Given the description of an element on the screen output the (x, y) to click on. 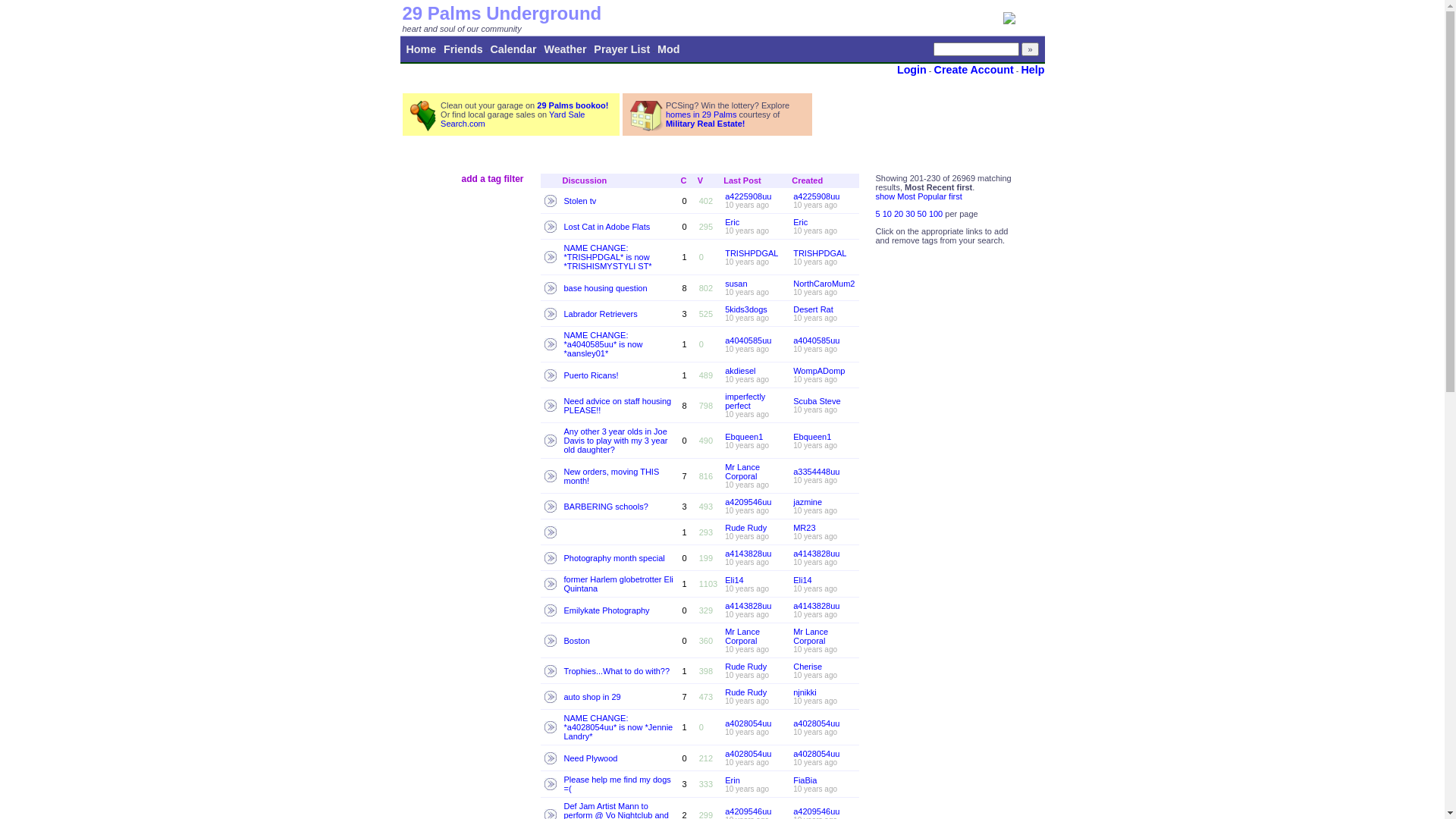
Stolen tv Element type: text (580, 199)
Prayer List Element type: text (621, 49)
Please help me find my dogs =( Element type: text (617, 784)
a4143828uu Element type: text (816, 553)
TRISHPDGAL Element type: text (819, 252)
100 Element type: text (936, 213)
jazmine Element type: text (807, 501)
a4028054uu Element type: text (747, 753)
Yard Sale Search.com Element type: text (512, 118)
TRISHPDGAL Element type: text (751, 252)
Puerto Ricans! Element type: text (591, 374)
Boston Element type: text (576, 639)
former Harlem globetrotter Eli Quintana Element type: text (618, 583)
a3354448uu Element type: text (816, 471)
5kids3dogs Element type: text (745, 308)
Ebqueen1 Element type: text (743, 436)
Mr Lance Corporal Element type: text (741, 471)
Login Element type: text (911, 69)
a4143828uu Element type: text (747, 605)
a4209546uu Element type: text (816, 810)
a4028054uu Element type: text (816, 753)
show Most Popular first Element type: text (918, 195)
20 Element type: text (899, 213)
a4209546uu Element type: text (747, 501)
a4028054uu Element type: text (816, 723)
Need Plywood Element type: text (591, 757)
Desert Rat Element type: text (813, 308)
Calendar Element type: text (512, 49)
Mr Lance Corporal Element type: text (810, 636)
WompADomp Element type: text (818, 370)
Scuba Steve Element type: text (816, 400)
NAME CHANGE: *a4028054uu* is now *Jennie Landry* Element type: text (618, 726)
base housing question Element type: text (605, 287)
a4040585uu Element type: text (816, 339)
29 Palms Underground Element type: text (501, 13)
Ebqueen1 Element type: text (812, 436)
Help Element type: text (1032, 69)
Rude Rudy Element type: text (745, 691)
Erin Element type: text (732, 779)
Military Real Estate! Element type: text (705, 123)
a4028054uu Element type: text (747, 723)
Eric Element type: text (731, 221)
Rude Rudy Element type: text (745, 666)
Labrador Retrievers Element type: text (600, 313)
homes in 29 Palms Element type: text (701, 114)
50 Element type: text (922, 213)
Need advice on staff housing PLEASE!! Element type: text (617, 404)
Home Element type: text (421, 49)
Friends Element type: text (463, 49)
29 Palms bookoo! Element type: text (572, 104)
10 Element type: text (888, 213)
NAME CHANGE: *TRISHPDGAL* is now *TRISHISMYSTYLI ST* Element type: text (608, 256)
Rude Rudy Element type: text (745, 527)
5 Element type: text (878, 213)
a4209546uu Element type: text (747, 810)
auto shop in 29 Element type: text (592, 695)
Eli14 Element type: text (733, 578)
Eli14 Element type: text (802, 578)
NAME CHANGE: *a4040585uu* is now *aansley01* Element type: text (603, 343)
Mr Lance Corporal Element type: text (741, 636)
New orders, moving THIS month! Element type: text (611, 476)
akdiesel Element type: text (739, 370)
BARBERING schools? Element type: text (606, 506)
Cherise Element type: text (807, 666)
Create Account Element type: text (973, 69)
NorthCaroMum2 Element type: text (823, 283)
FiaBia Element type: text (804, 779)
njnikki Element type: text (804, 691)
Weather Element type: text (564, 49)
a4225908uu Element type: text (816, 195)
Photography month special Element type: text (614, 557)
susan Element type: text (735, 283)
Emilykate Photography Element type: text (606, 609)
Lost Cat in Adobe Flats Element type: text (607, 225)
30 Element type: text (910, 213)
a4143828uu Element type: text (747, 553)
MR23 Element type: text (804, 527)
imperfectly perfect Element type: text (744, 401)
a4040585uu Element type: text (747, 339)
Trophies...What to do with?? Element type: text (617, 669)
Eric Element type: text (800, 221)
a4143828uu Element type: text (816, 605)
a4225908uu Element type: text (747, 195)
Mod Element type: text (668, 49)
